Given the description of an element on the screen output the (x, y) to click on. 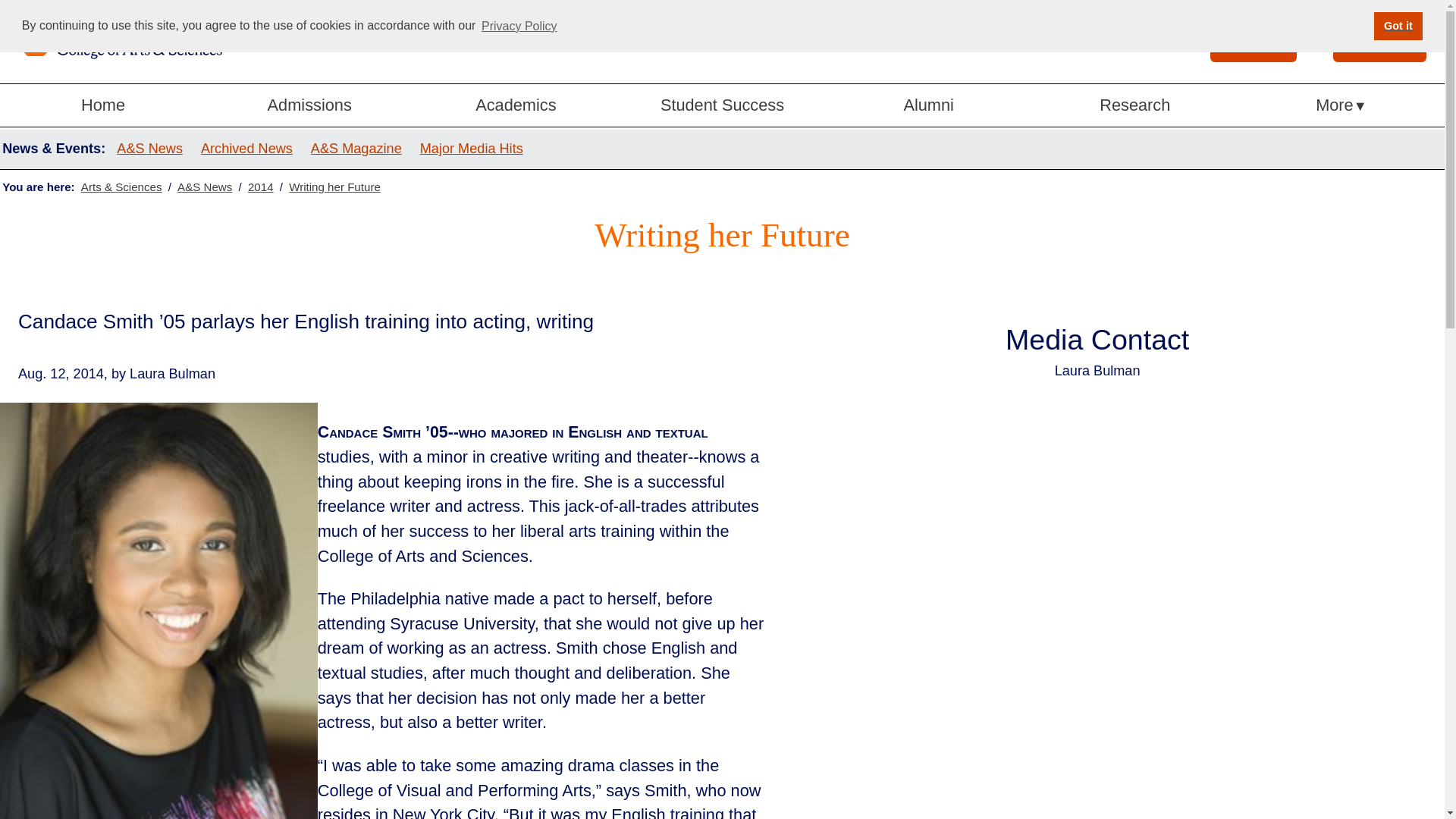
Admissions (309, 105)
Alumni (928, 105)
Got it (1398, 26)
Research (1135, 105)
Give Online (1379, 41)
Privacy Policy (519, 25)
Home (103, 105)
Search Search (1253, 41)
Student Success (721, 105)
Academics (515, 105)
Search (1230, 38)
